Given the description of an element on the screen output the (x, y) to click on. 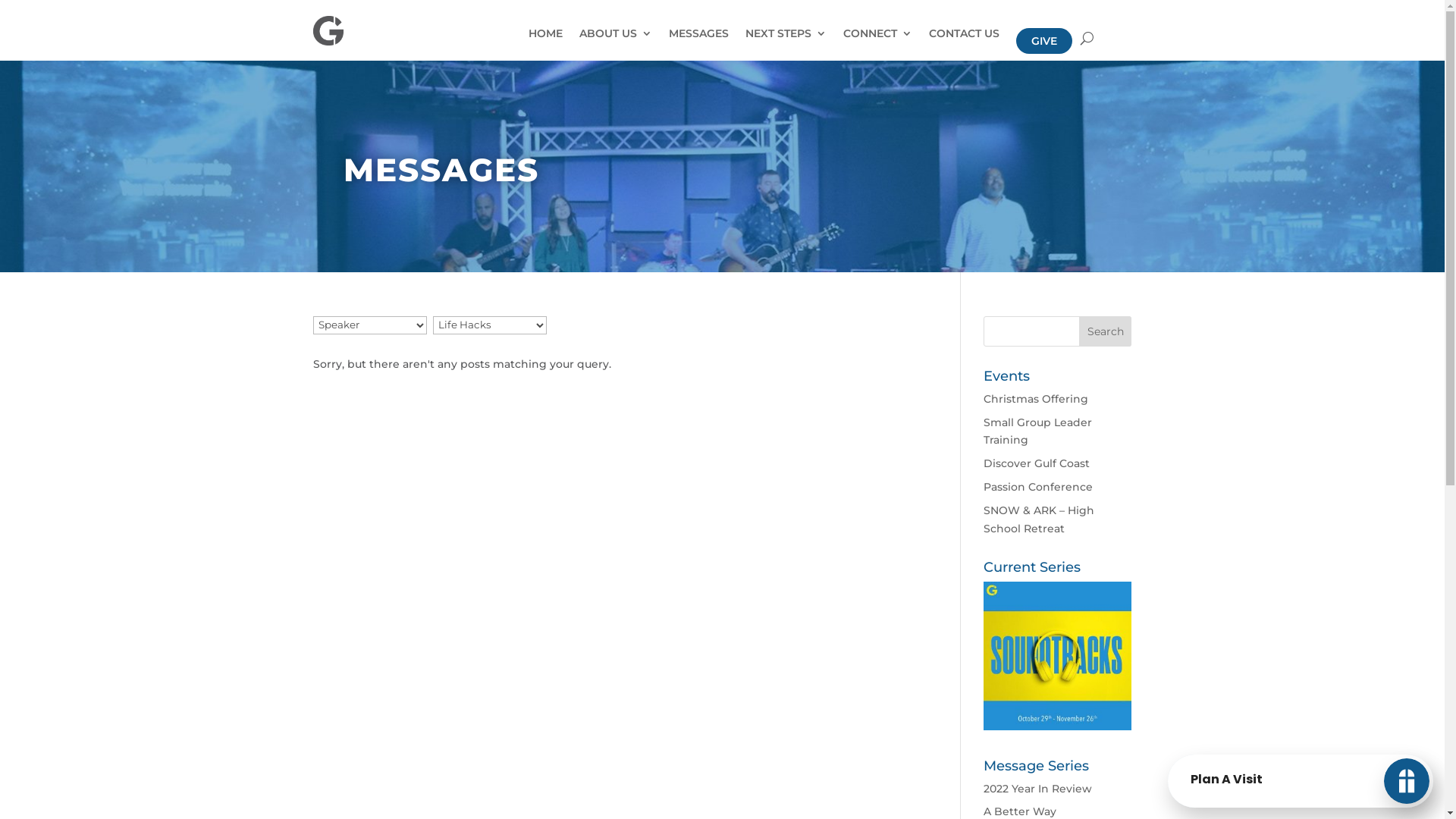
Search Element type: text (1105, 331)
HOME Element type: text (545, 40)
CONTACT US Element type: text (963, 40)
MESSAGES Element type: text (698, 40)
GIVE Element type: text (1044, 40)
2022 Year In Review Element type: text (1037, 788)
NEXT STEPS Element type: text (785, 40)
CONNECT Element type: text (877, 40)
Passion Conference Element type: text (1037, 486)
Christmas Offering Element type: text (1035, 398)
A Better Way Element type: text (1019, 811)
ABOUT US Element type: text (615, 40)
Discover Gulf Coast Element type: text (1036, 463)
Small Group Leader Training Element type: text (1037, 431)
